Given the description of an element on the screen output the (x, y) to click on. 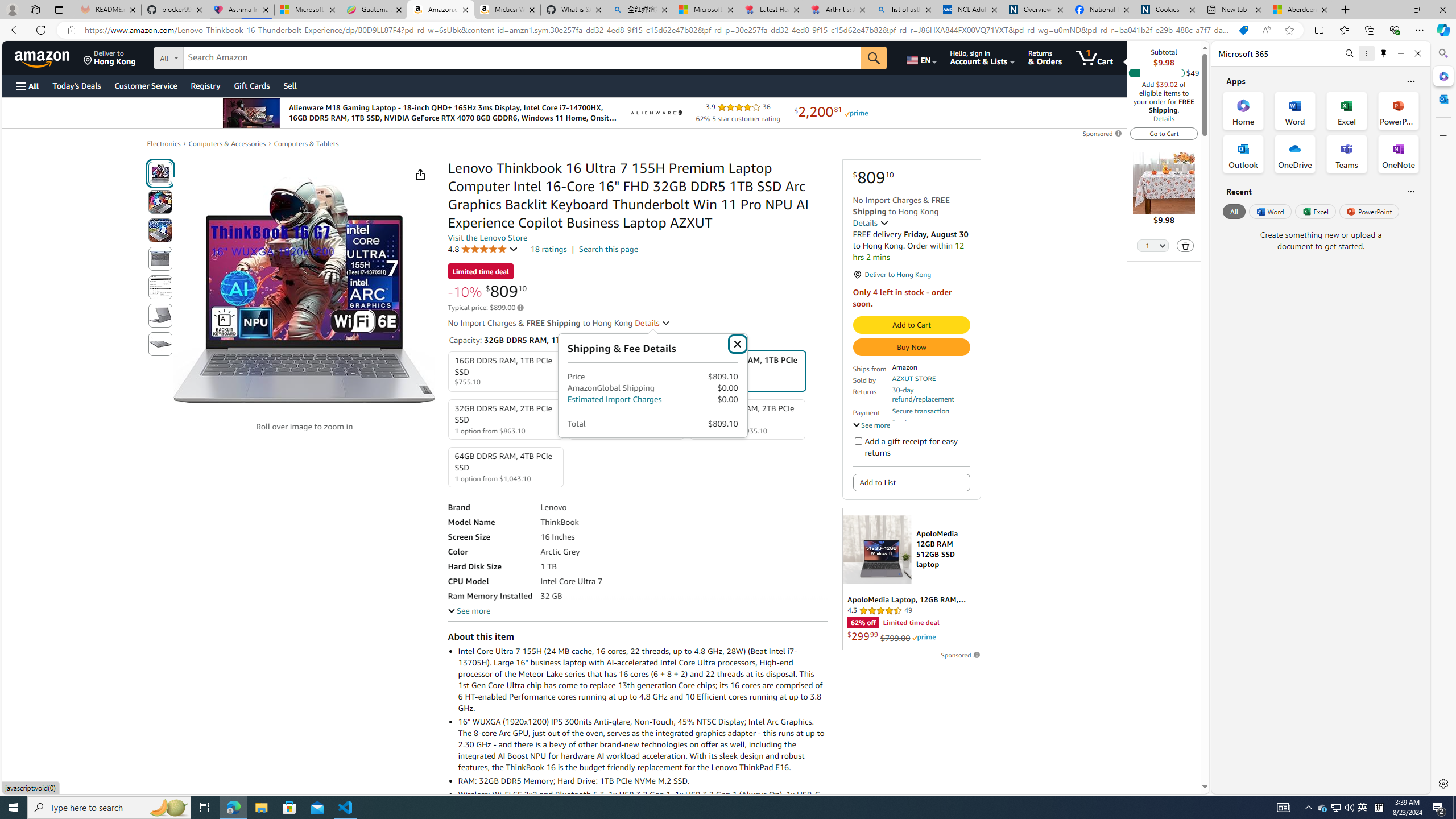
You have the best price! (1243, 29)
Go (873, 57)
Search this page (608, 248)
Computers & Tablets (306, 144)
Details (1163, 118)
Is this helpful? (1410, 191)
Product support included (930, 427)
